Given the description of an element on the screen output the (x, y) to click on. 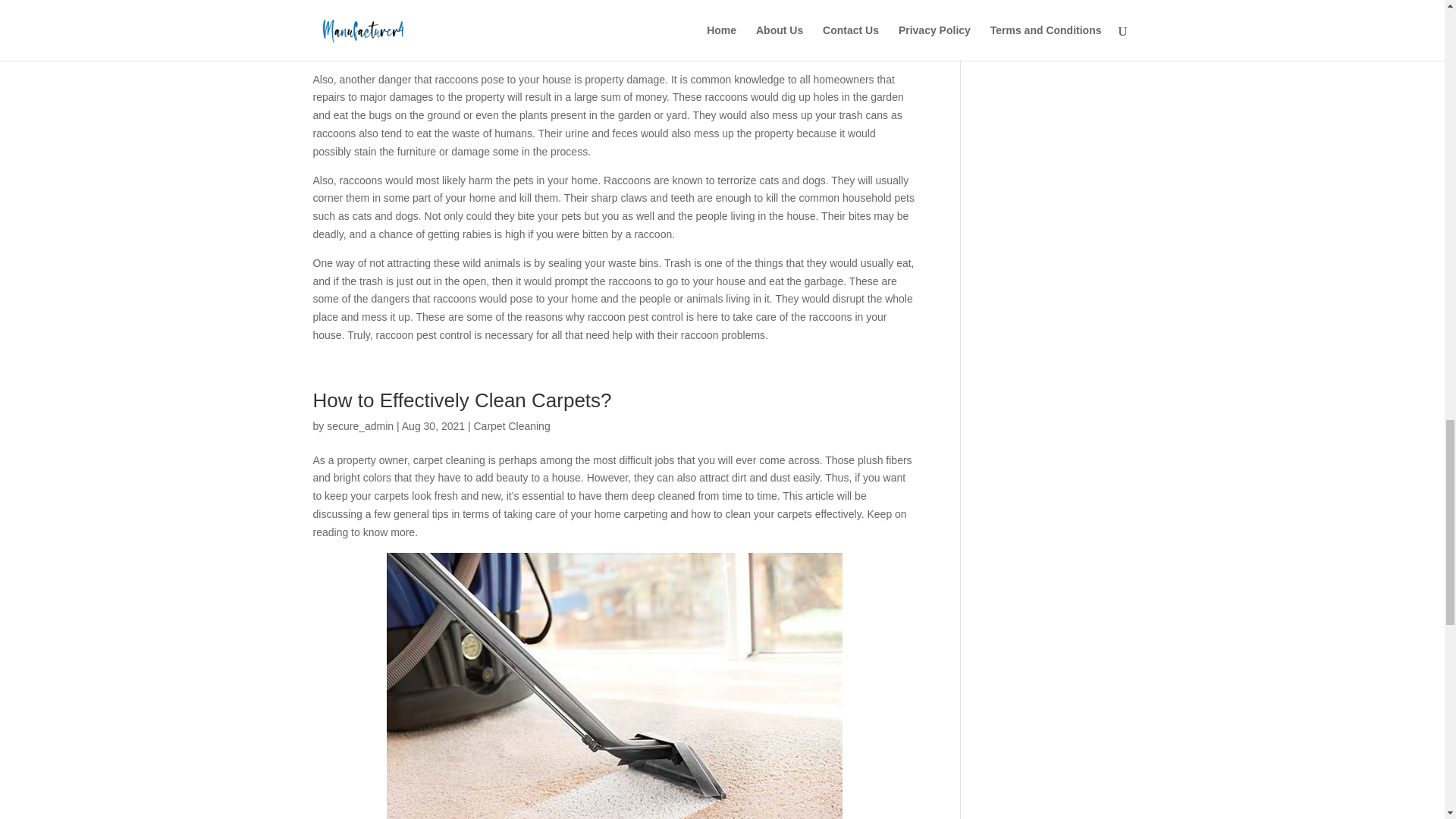
How to Effectively Clean Carpets?  (464, 400)
Carpet Cleaning (511, 426)
